Given the description of an element on the screen output the (x, y) to click on. 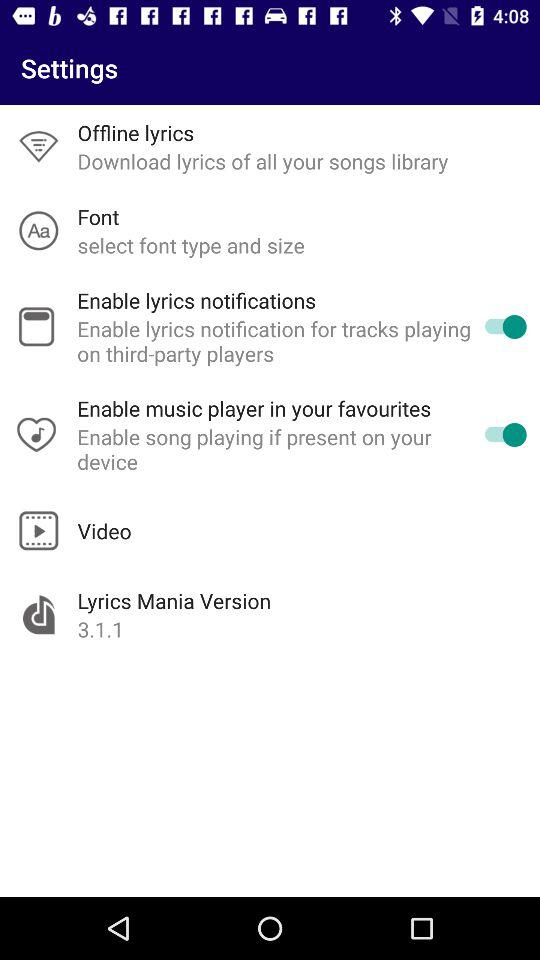
tap the item below enable lyrics notification item (254, 408)
